Given the description of an element on the screen output the (x, y) to click on. 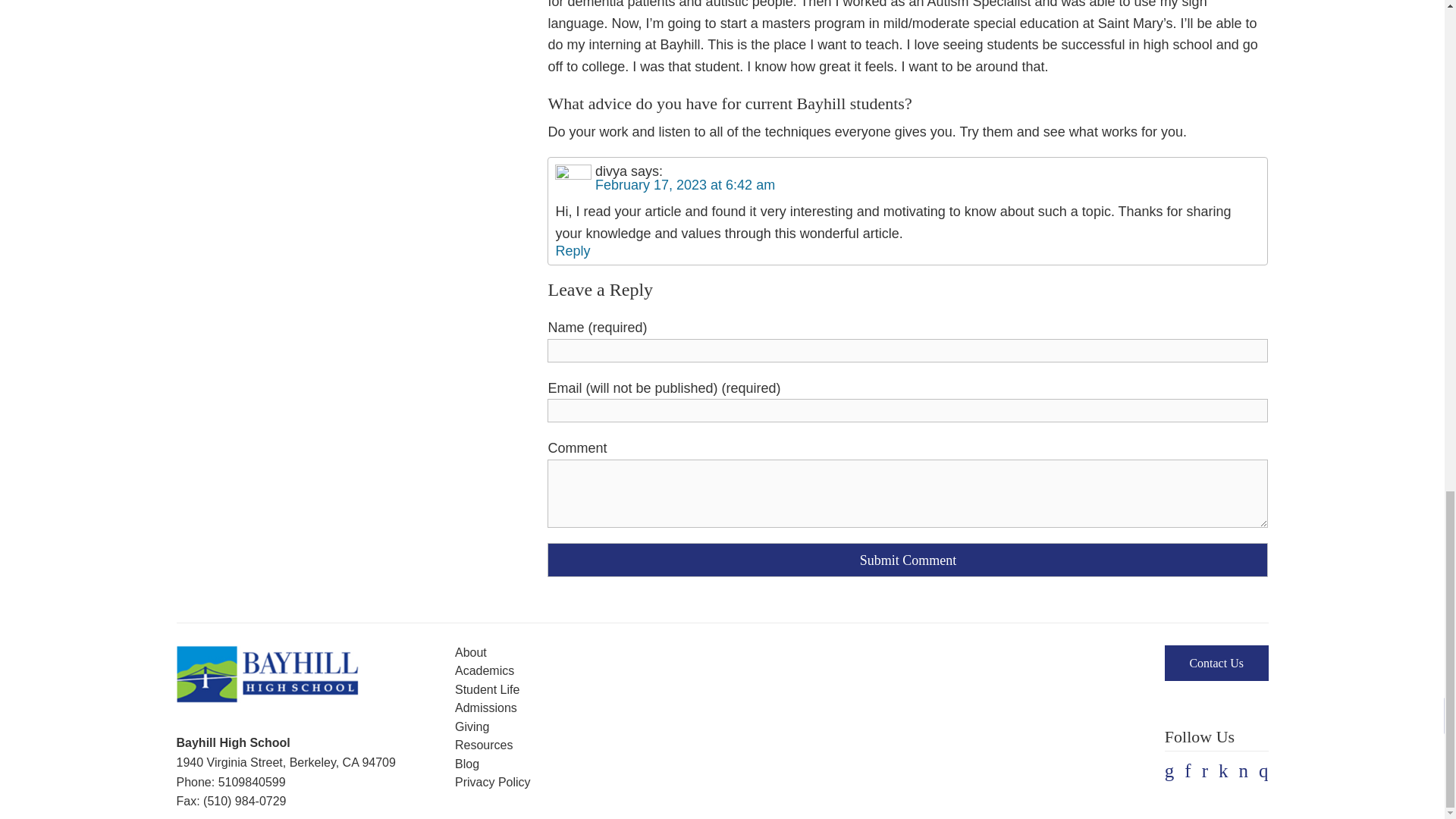
Submit Comment (907, 559)
